Given the description of an element on the screen output the (x, y) to click on. 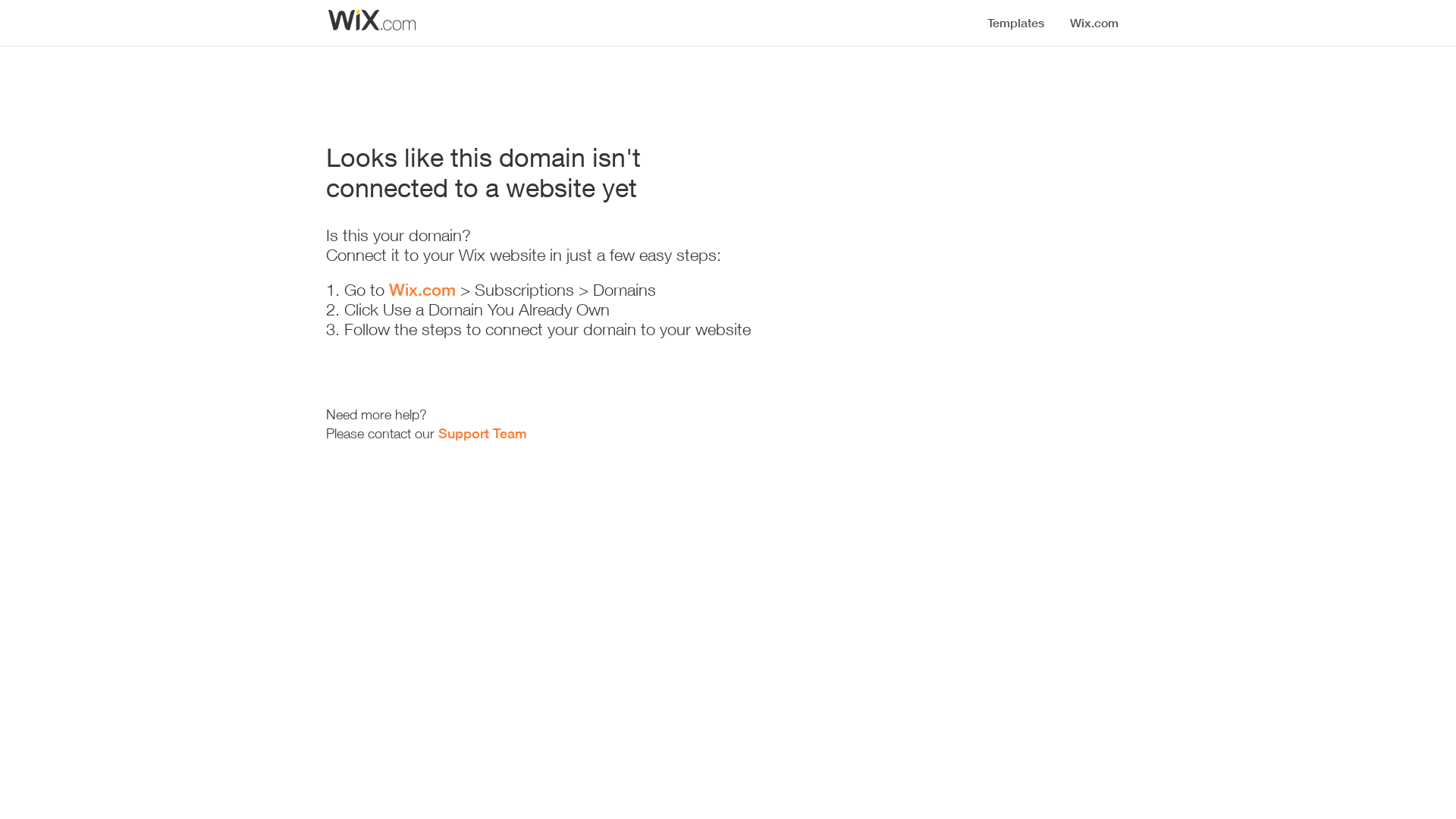
Wix.com Element type: text (422, 289)
Support Team Element type: text (482, 432)
